Given the description of an element on the screen output the (x, y) to click on. 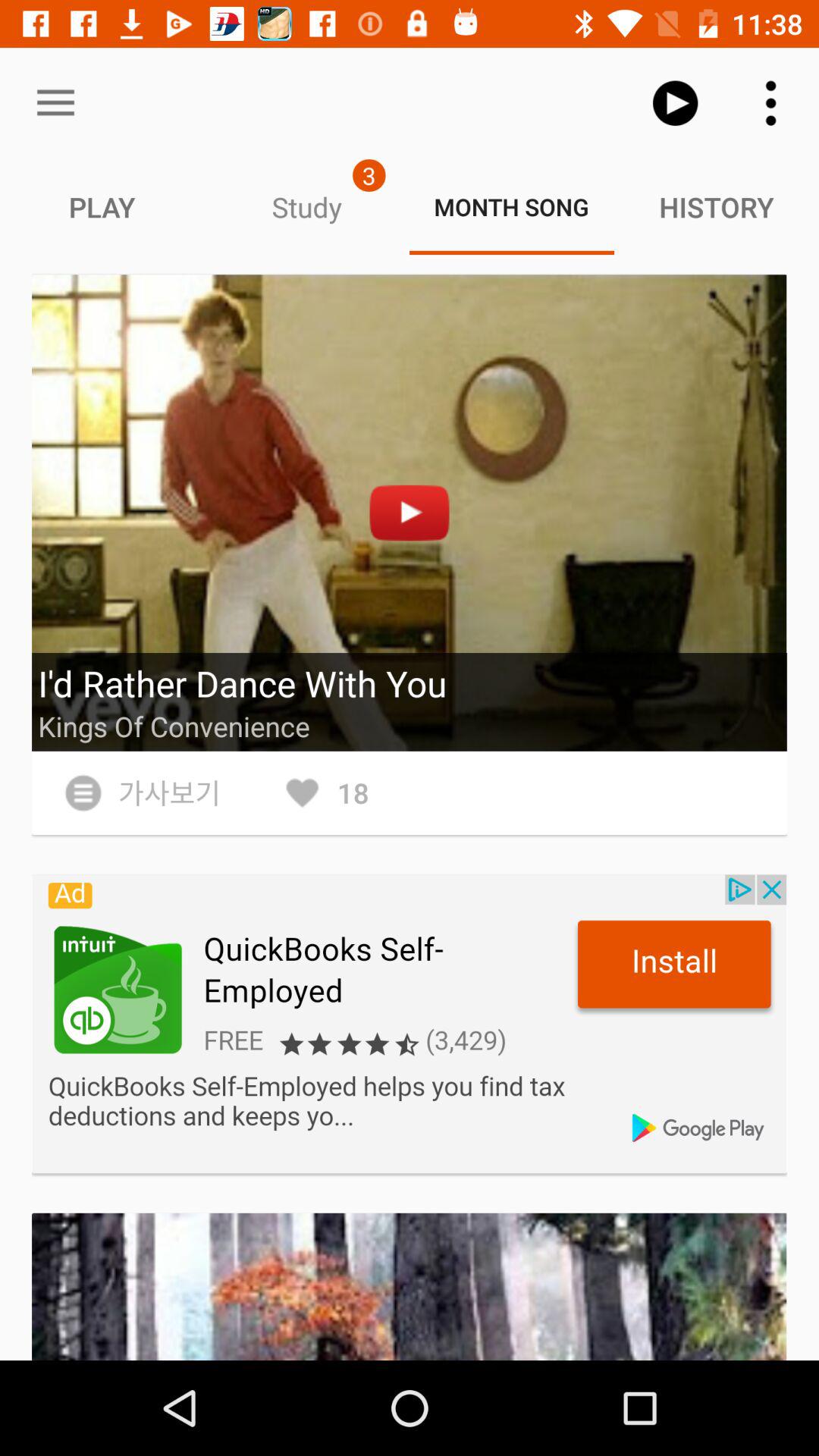
visit sponsor advertisement (409, 1023)
